Given the description of an element on the screen output the (x, y) to click on. 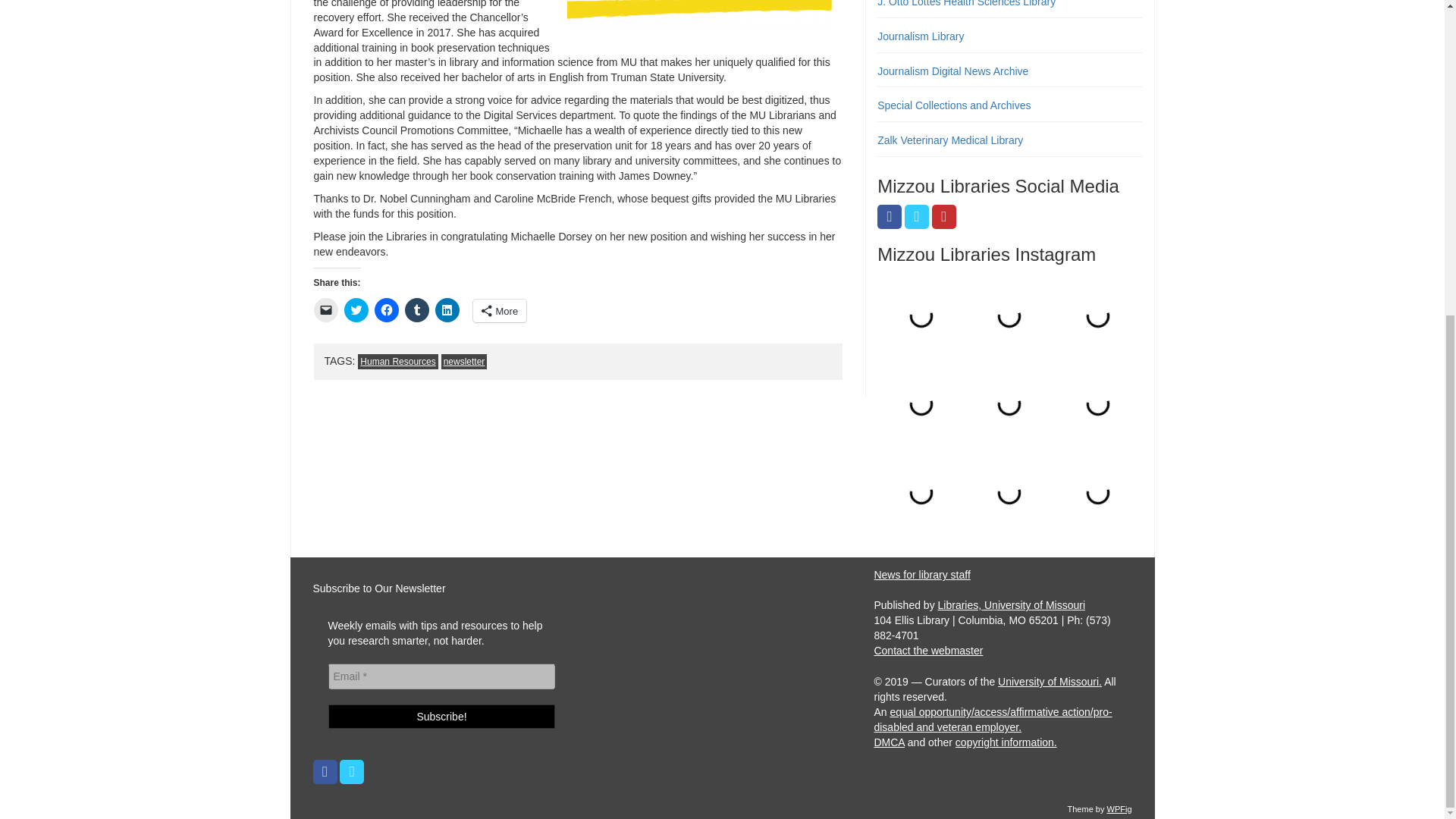
newsletter (464, 361)
Click to share on Tumblr (416, 310)
More (500, 310)
Click to share on Facebook (386, 310)
Subscribe! (440, 716)
Click to share on LinkedIn (447, 310)
Human Resources (398, 361)
Email (440, 676)
Click to share on Twitter (355, 310)
Click to email a link to a friend (325, 310)
